Given the description of an element on the screen output the (x, y) to click on. 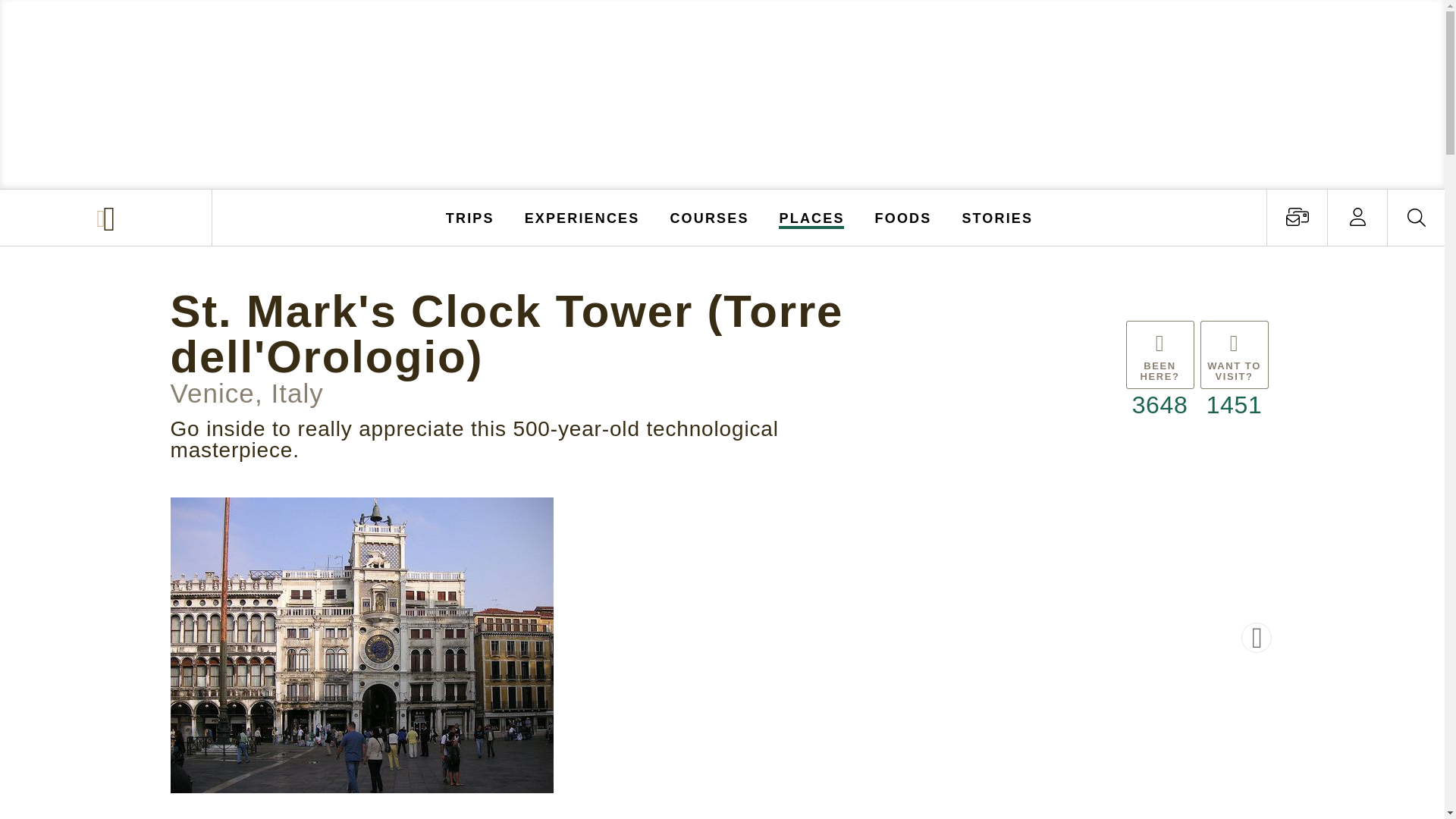
COURSES (707, 217)
EXPERIENCES (582, 217)
TRIPS (469, 217)
PLACES (812, 217)
